Given the description of an element on the screen output the (x, y) to click on. 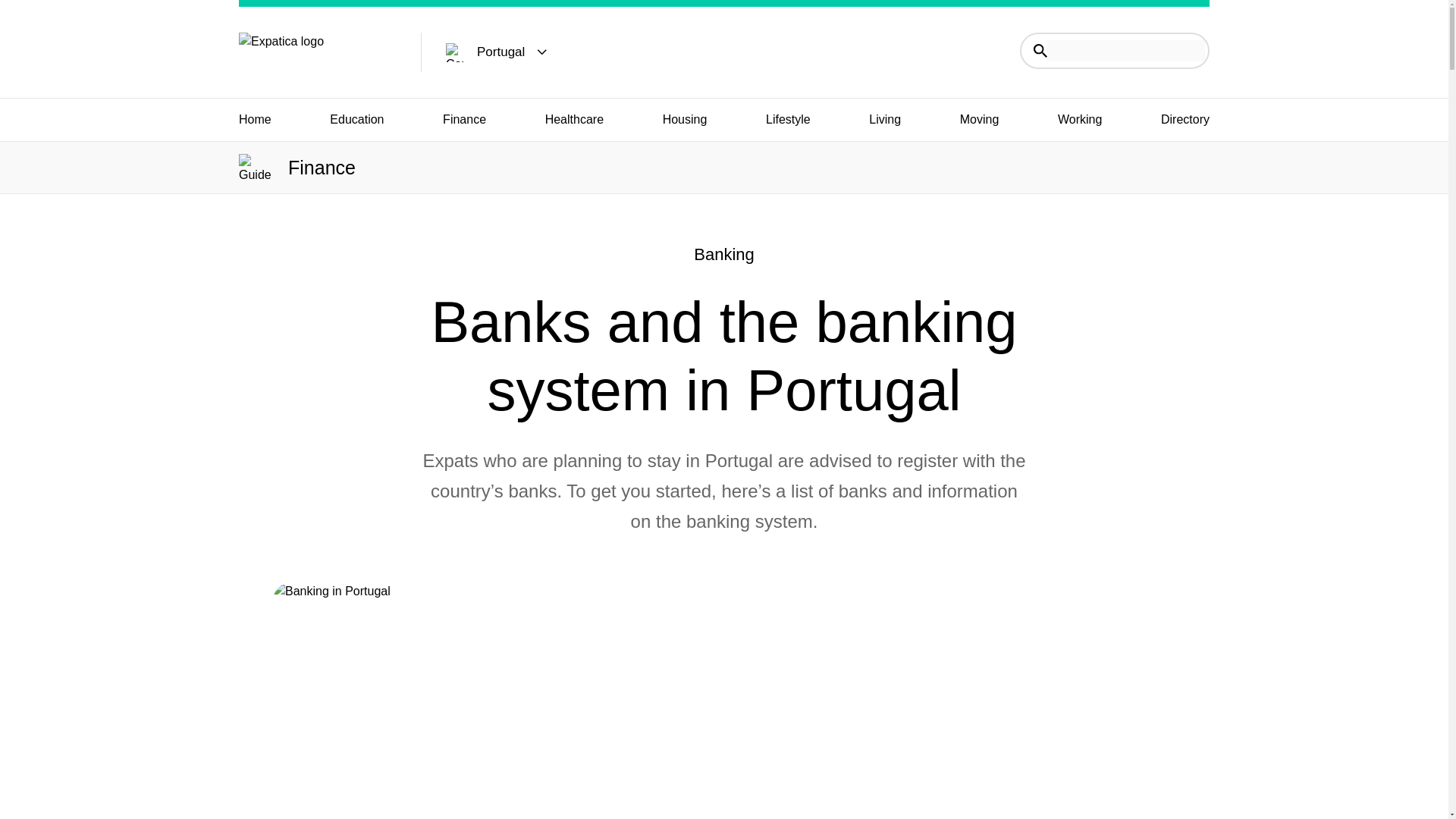
Directory (1184, 119)
Home (254, 119)
Education (357, 119)
Housing (684, 119)
Lifestyle (787, 119)
Moving (978, 119)
Living (885, 119)
Finance (464, 119)
Working (1080, 119)
Healthcare (574, 119)
